Given the description of an element on the screen output the (x, y) to click on. 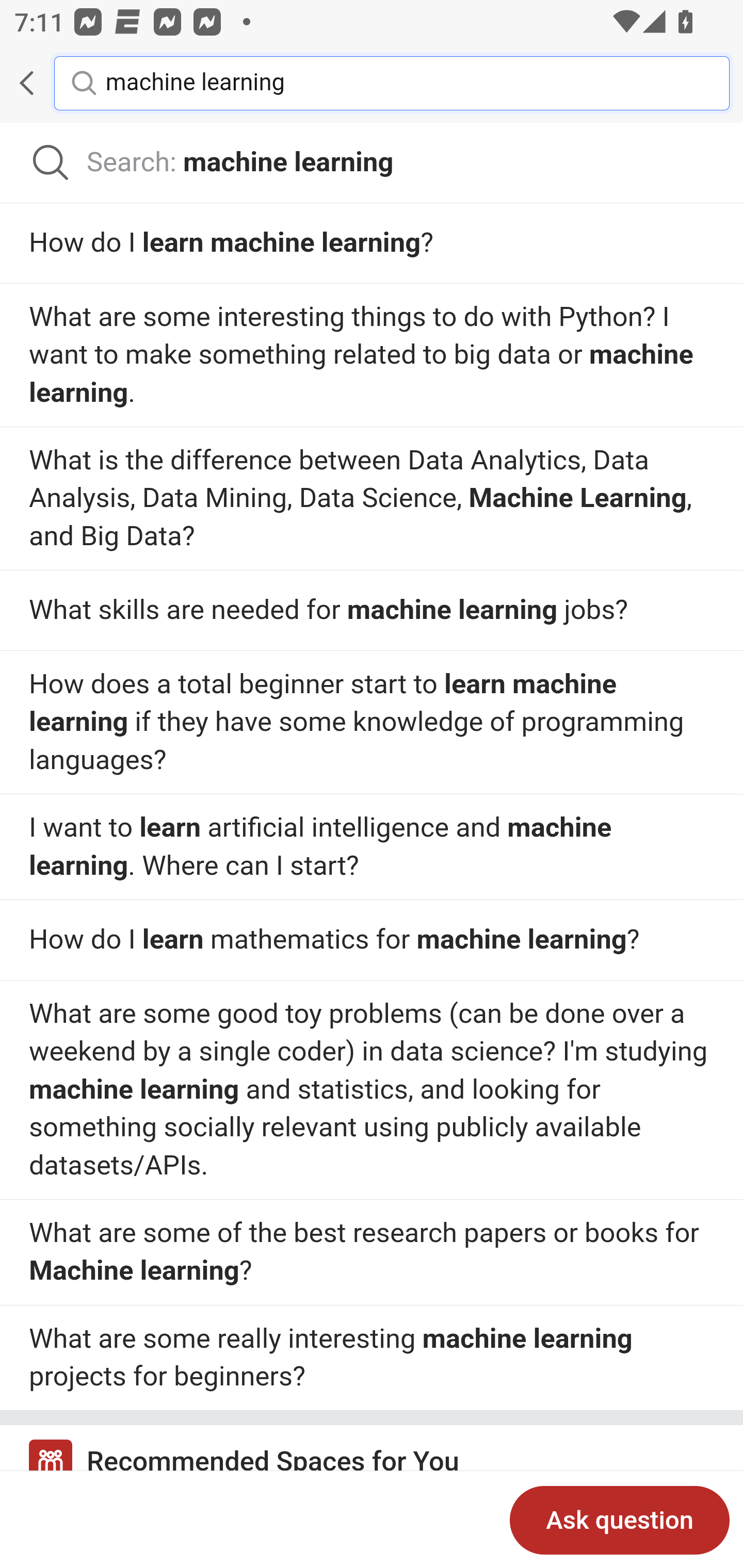
Me Home Search Add (371, 82)
machine learning (402, 82)
Search: macj (371, 162)
How do I learn machine learning? (371, 243)
What skills are needed for machine learning jobs? (371, 610)
How do I learn mathematics for machine learning? (371, 1088)
